Given the description of an element on the screen output the (x, y) to click on. 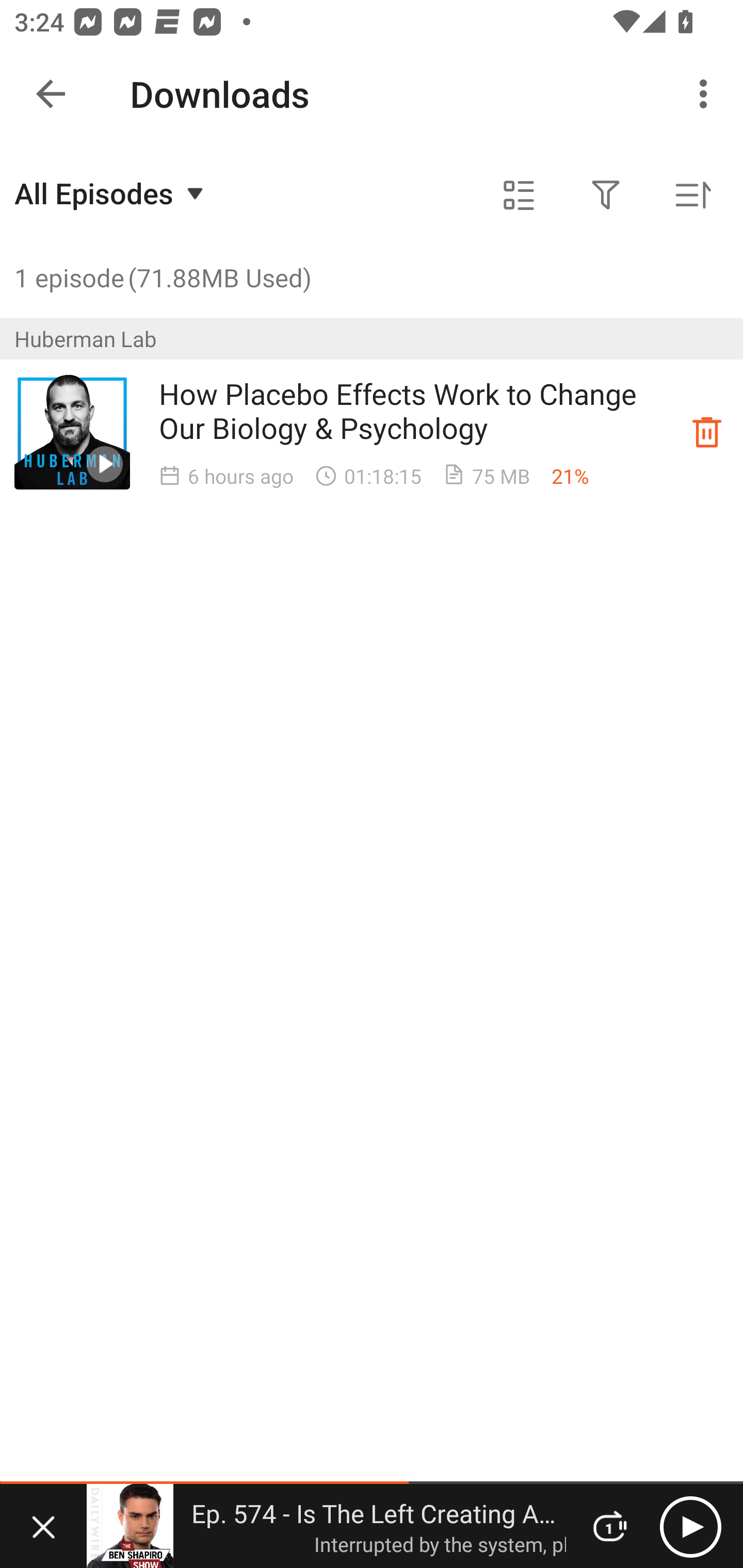
5.0 Downloading 4 episodes VIEW (371, 88)
Navigate up (50, 93)
More options (706, 93)
All Episodes (111, 192)
 (518, 195)
 (605, 195)
 Sorted by oldest first (692, 195)
Downloaded (706, 431)
Play (690, 1526)
